Given the description of an element on the screen output the (x, y) to click on. 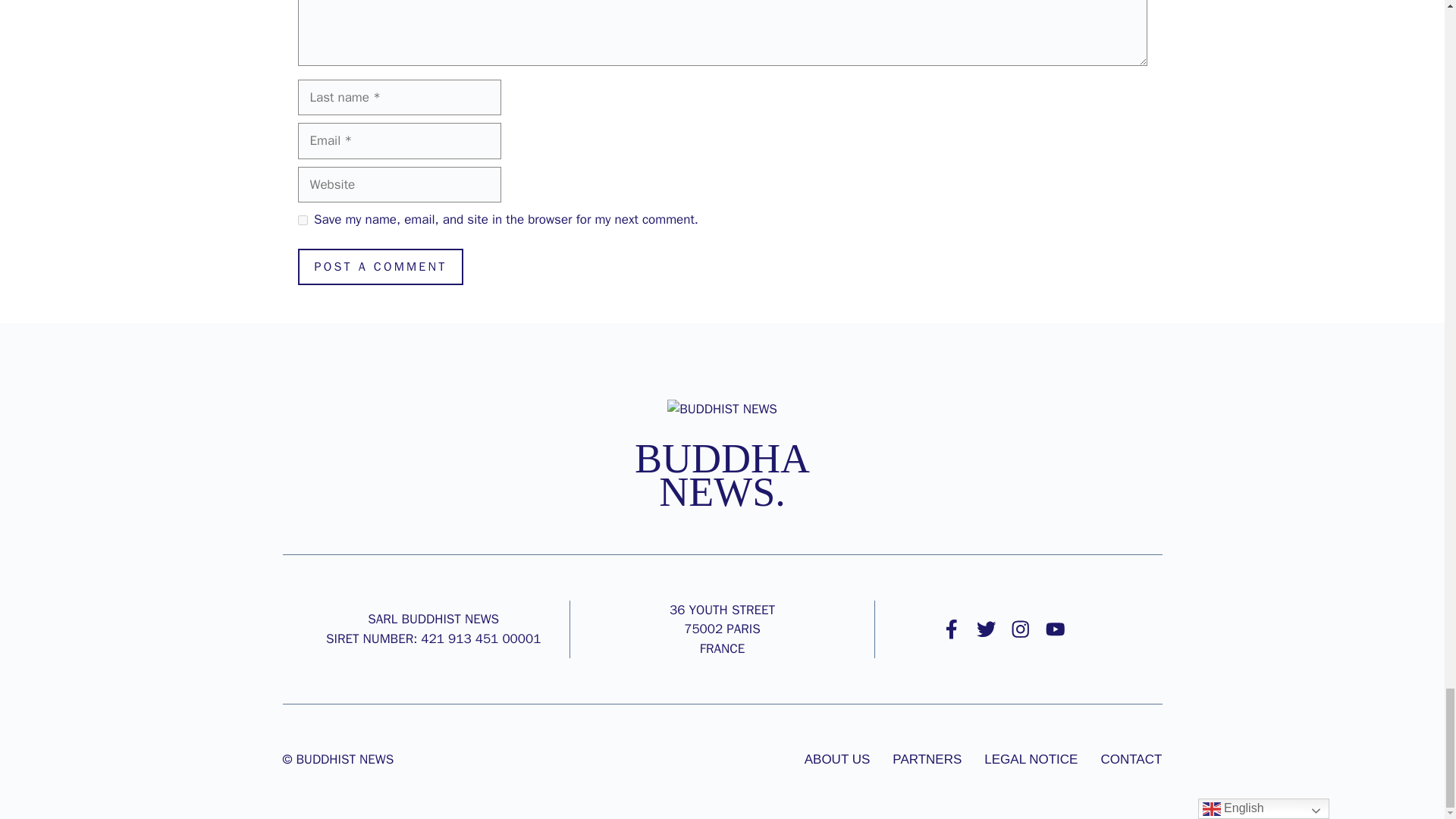
yes (302, 220)
Post a Comment (380, 266)
